Given the description of an element on the screen output the (x, y) to click on. 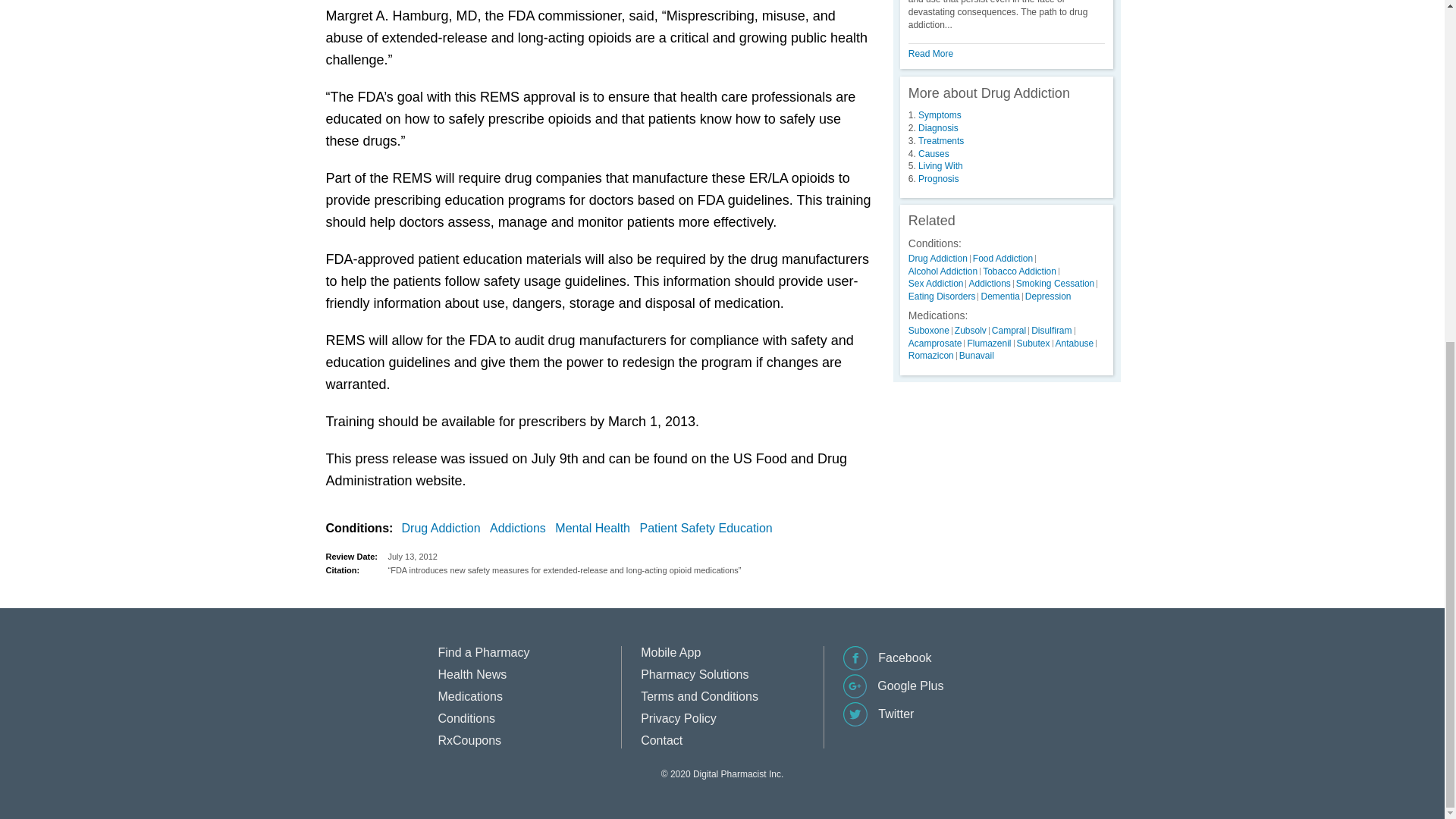
Symptoms (939, 114)
Addictions (520, 528)
Patient Safety Education (708, 528)
Read More (930, 53)
Drug Addiction (443, 528)
Mental Health (595, 528)
